Given the description of an element on the screen output the (x, y) to click on. 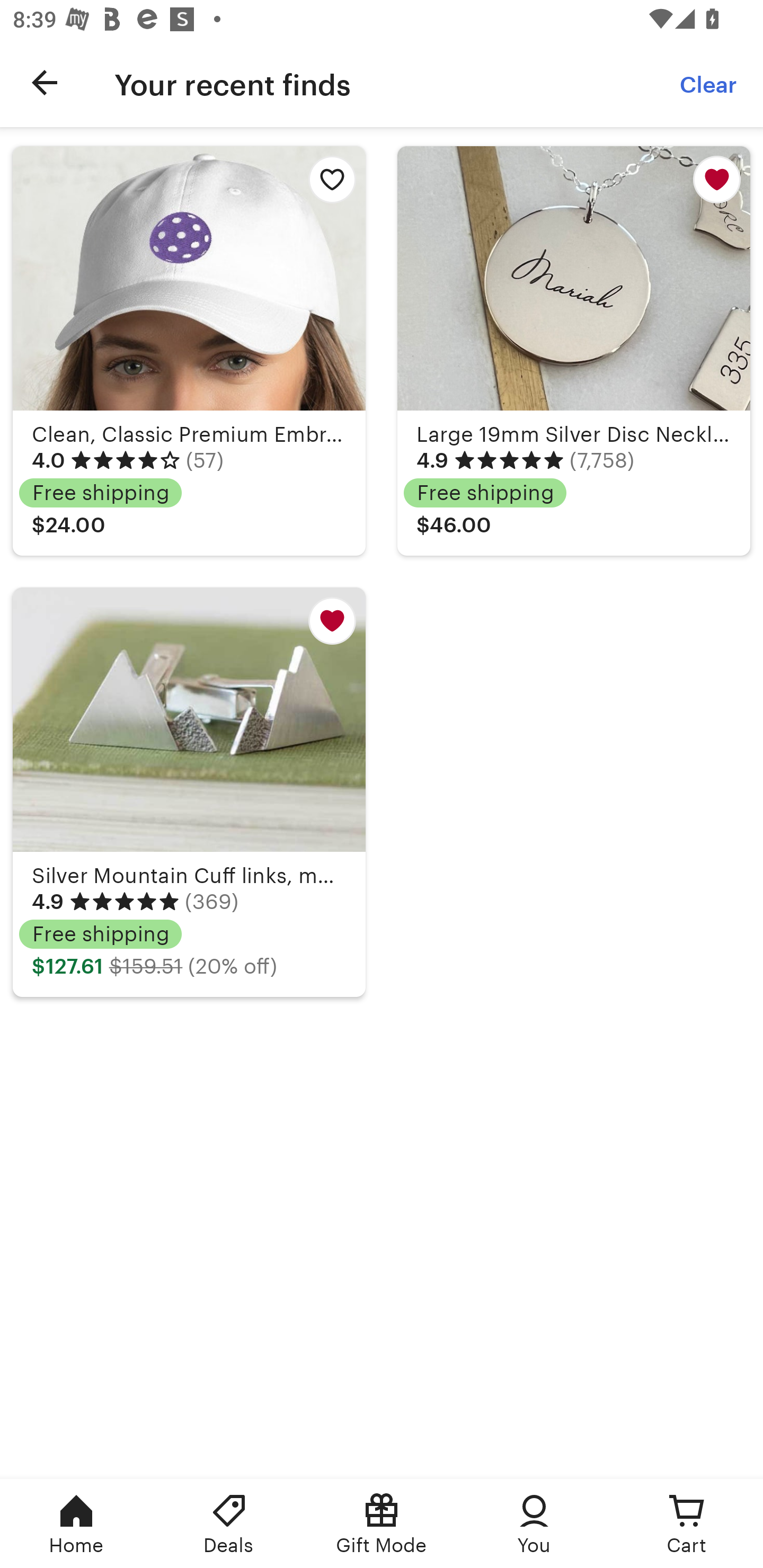
Navigate up (44, 82)
Clear (708, 82)
Deals (228, 1523)
Gift Mode (381, 1523)
You (533, 1523)
Cart (686, 1523)
